Given the description of an element on the screen output the (x, y) to click on. 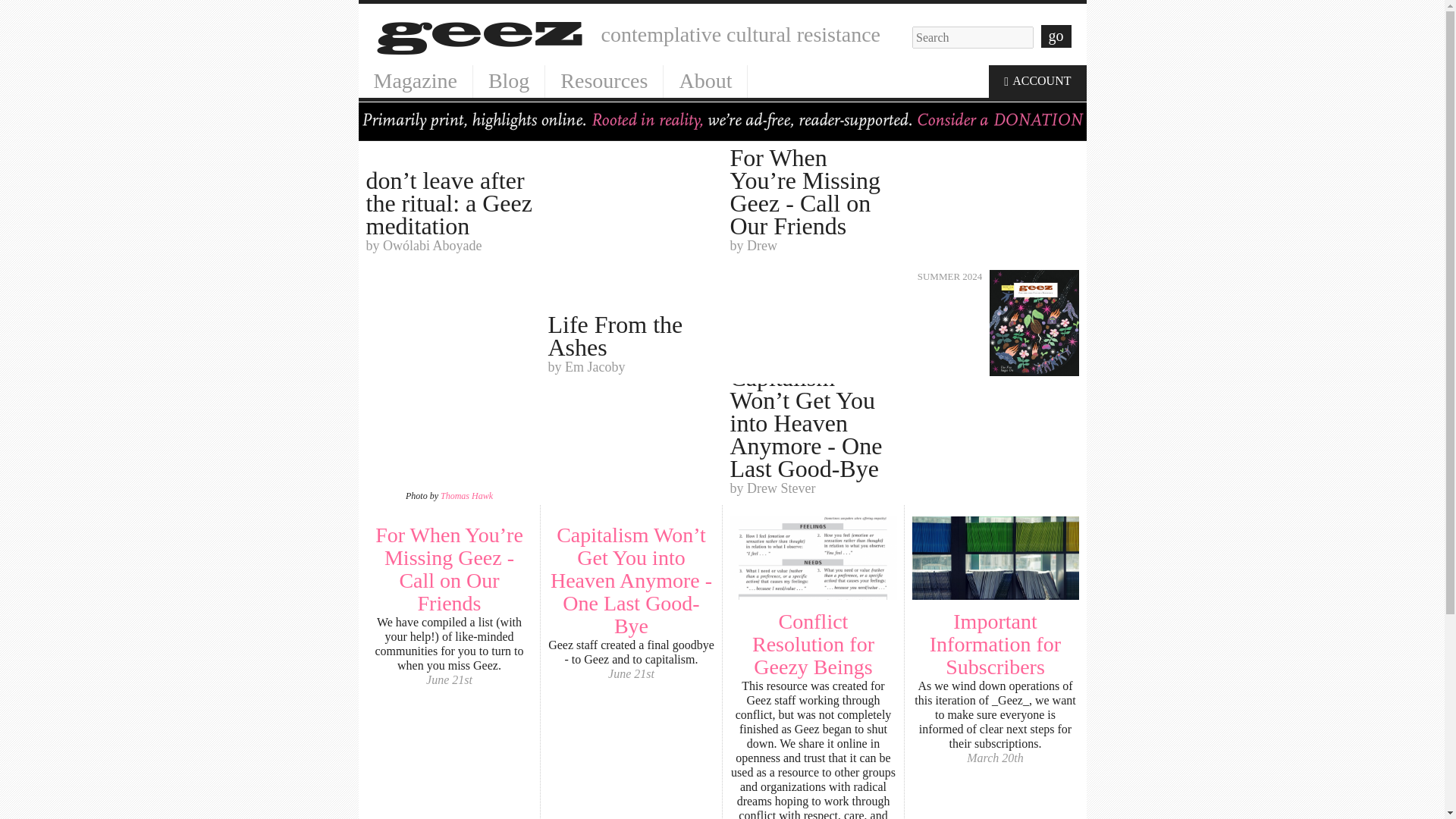
Blog (508, 81)
About (704, 81)
SUMMER 2024 (995, 323)
ACCOUNT (1037, 81)
Important Information for Subscribers (631, 323)
Resources (995, 643)
Magazine (603, 81)
Thomas Hawk (414, 81)
Conflict Resolution for Geezy Beings (467, 495)
